Given the description of an element on the screen output the (x, y) to click on. 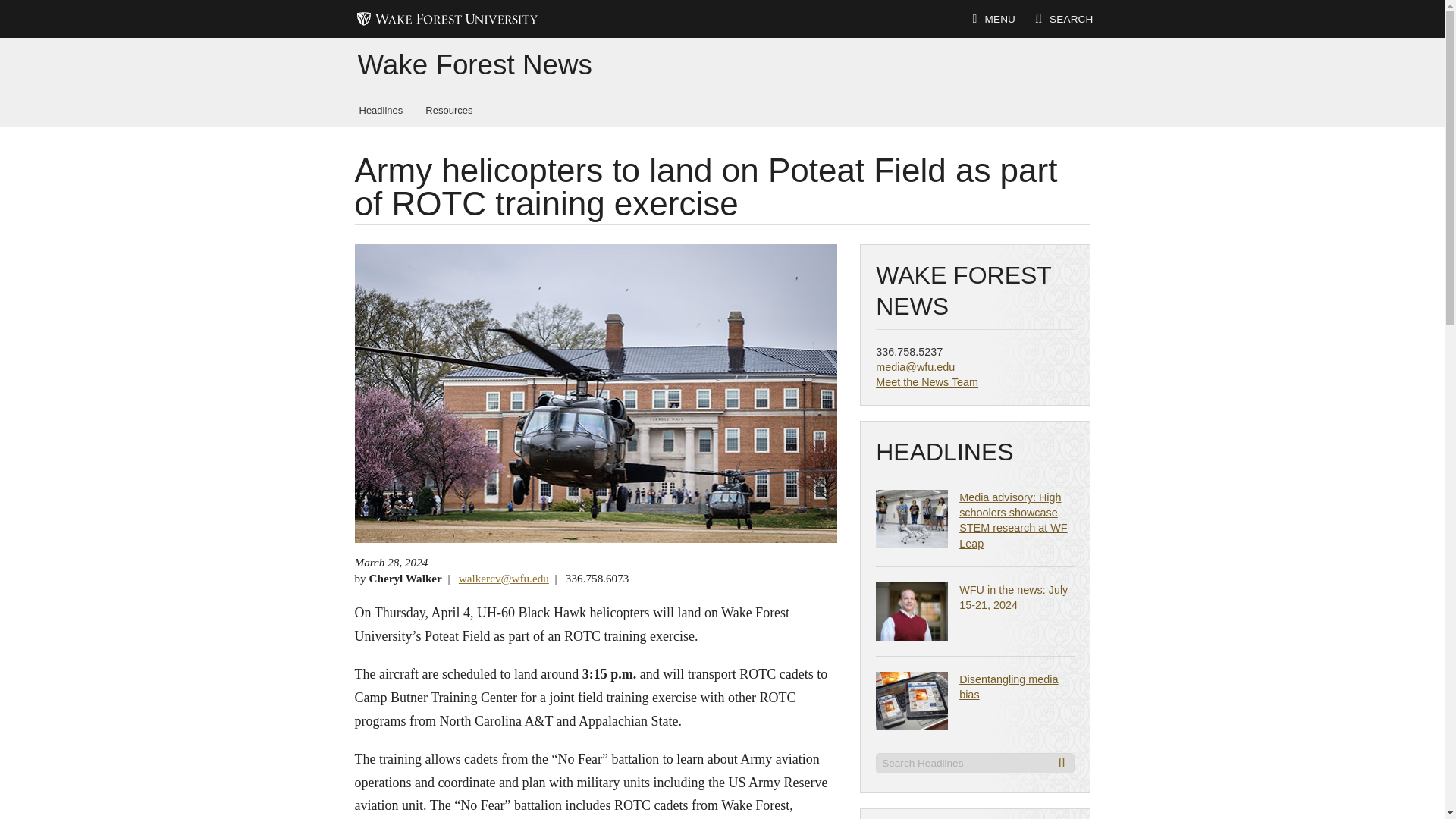
MENU (993, 19)
